Given the description of an element on the screen output the (x, y) to click on. 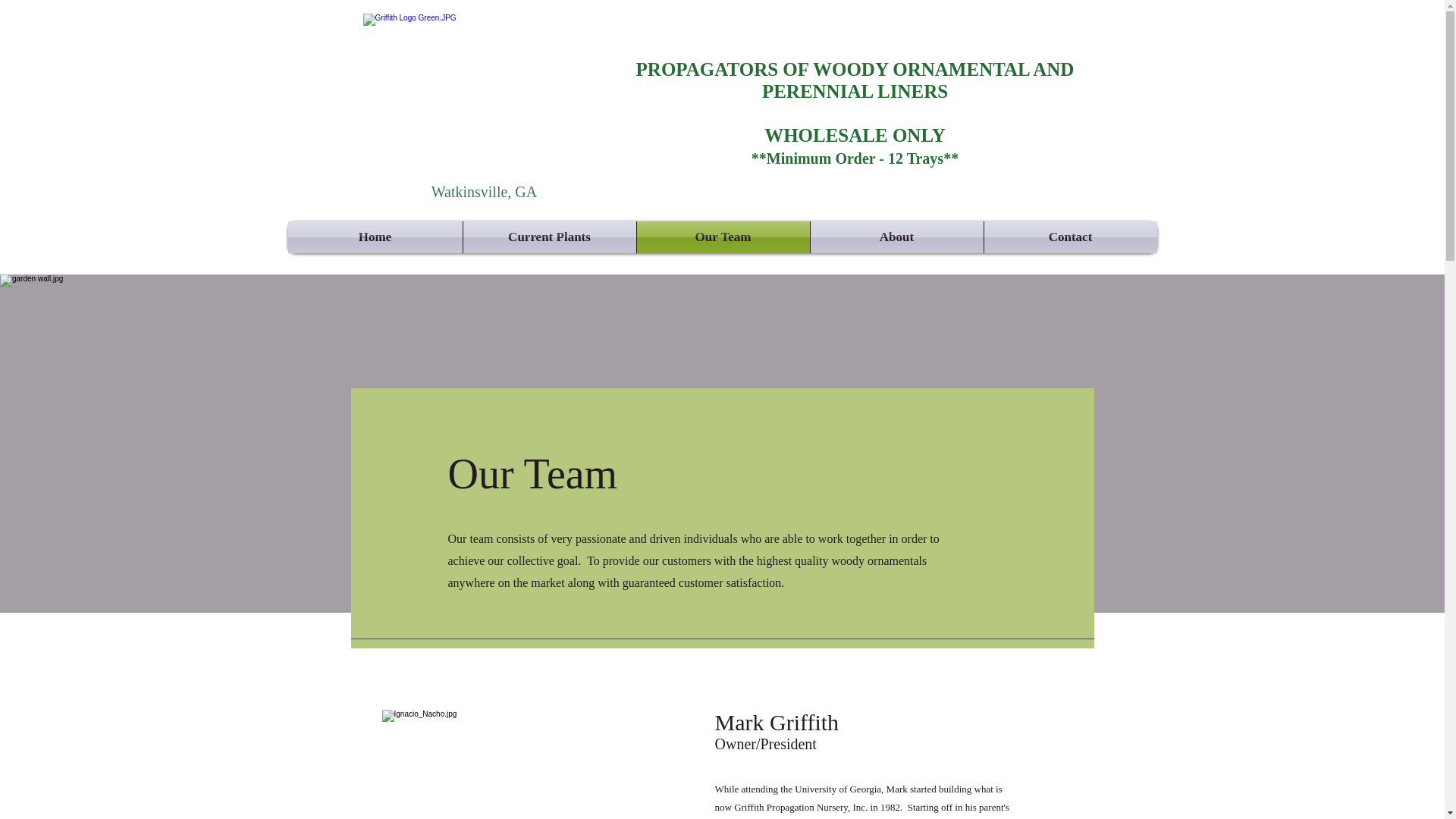
About (895, 237)
Current Plants (548, 237)
Our Team (723, 237)
Home (375, 237)
Contact (1070, 237)
